Given the description of an element on the screen output the (x, y) to click on. 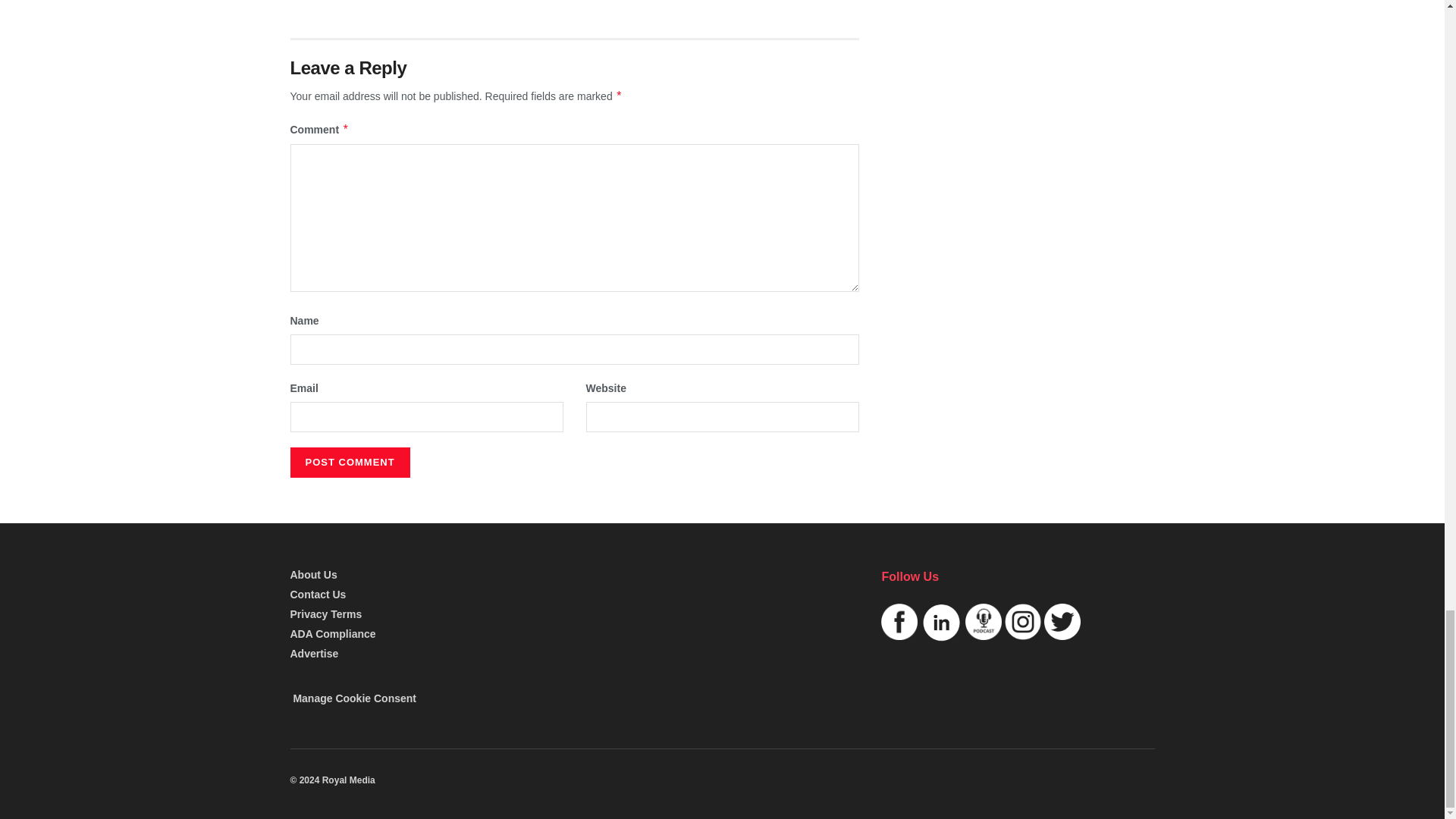
Post Comment (349, 462)
Royal Media (331, 779)
